Given the description of an element on the screen output the (x, y) to click on. 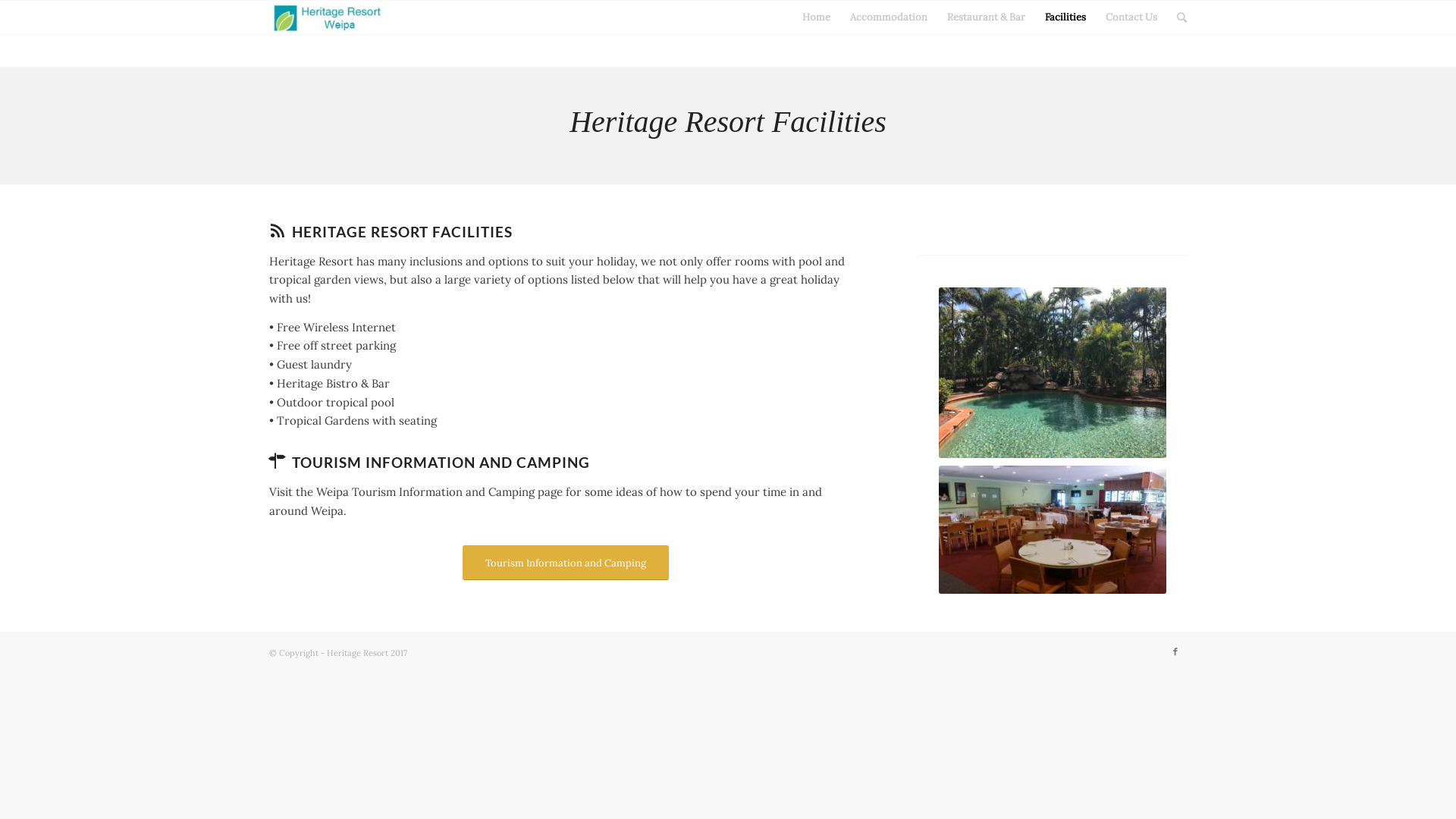
Contact Us Element type: text (1131, 17)
Facebook Element type: hover (1175, 651)
Restaurant & Bar Element type: text (986, 17)
Accommodation Element type: text (888, 17)
20170509_112522 Element type: hover (1052, 529)
Tourism Information and Camping Element type: text (565, 562)
Facilities Element type: text (1065, 17)
horizontal pool Element type: hover (1052, 372)
Home Element type: text (816, 17)
